Given the description of an element on the screen output the (x, y) to click on. 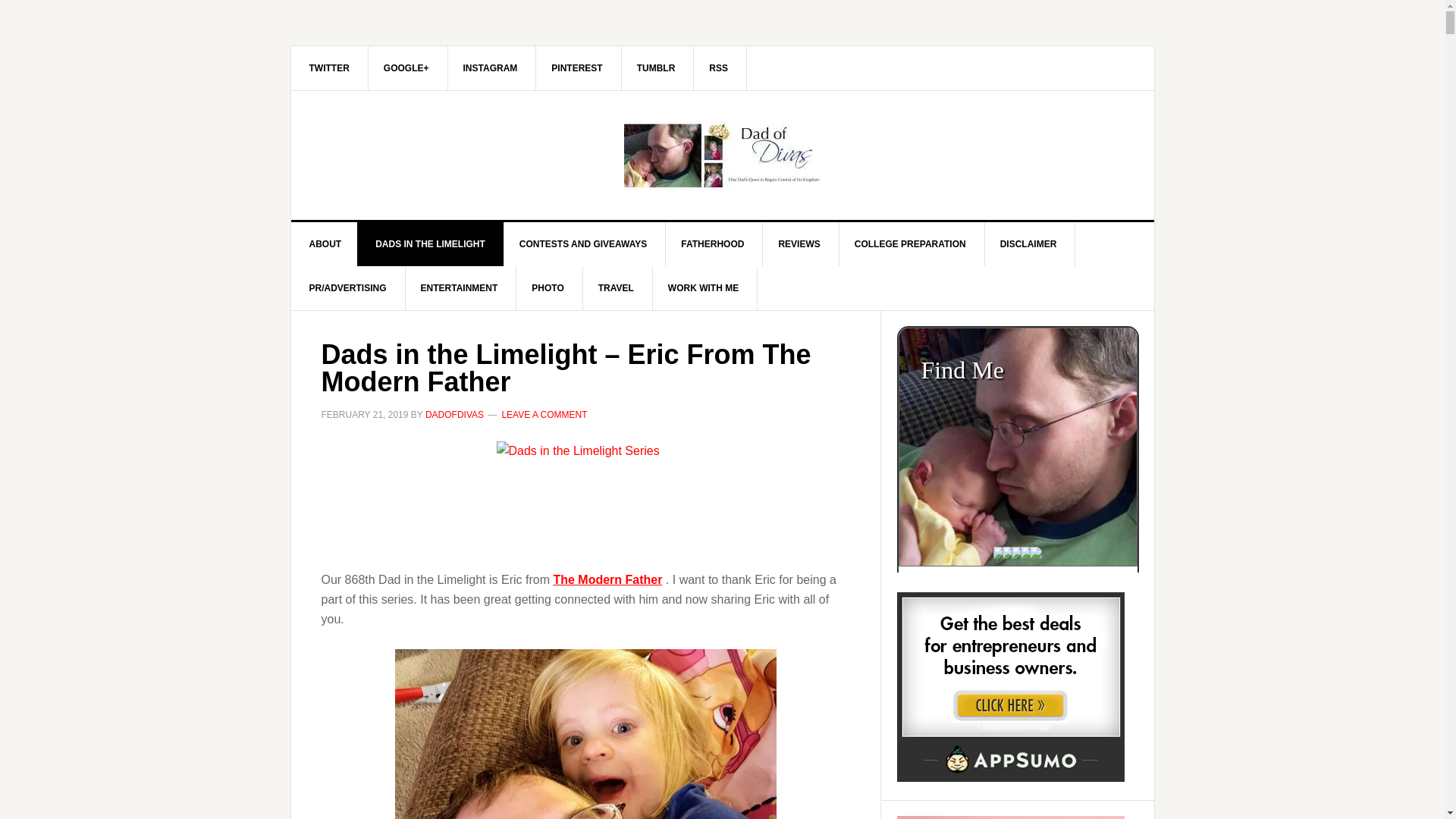
TRAVEL (615, 288)
INSTAGRAM (491, 67)
The Modern Father (607, 579)
TUMBLR (656, 67)
FATHERHOOD (712, 243)
DADOFDIVAS (454, 414)
ENTERTAINMENT (459, 288)
WORK WITH ME (703, 288)
TWITTER (329, 67)
DADS IN THE LIMELIGHT (429, 243)
CONTESTS AND GIVEAWAYS (582, 243)
Dads in the Limelight Series (585, 498)
DAD OF DIVAS (722, 155)
PHOTO (547, 288)
DISCLAIMER (1028, 243)
